Given the description of an element on the screen output the (x, y) to click on. 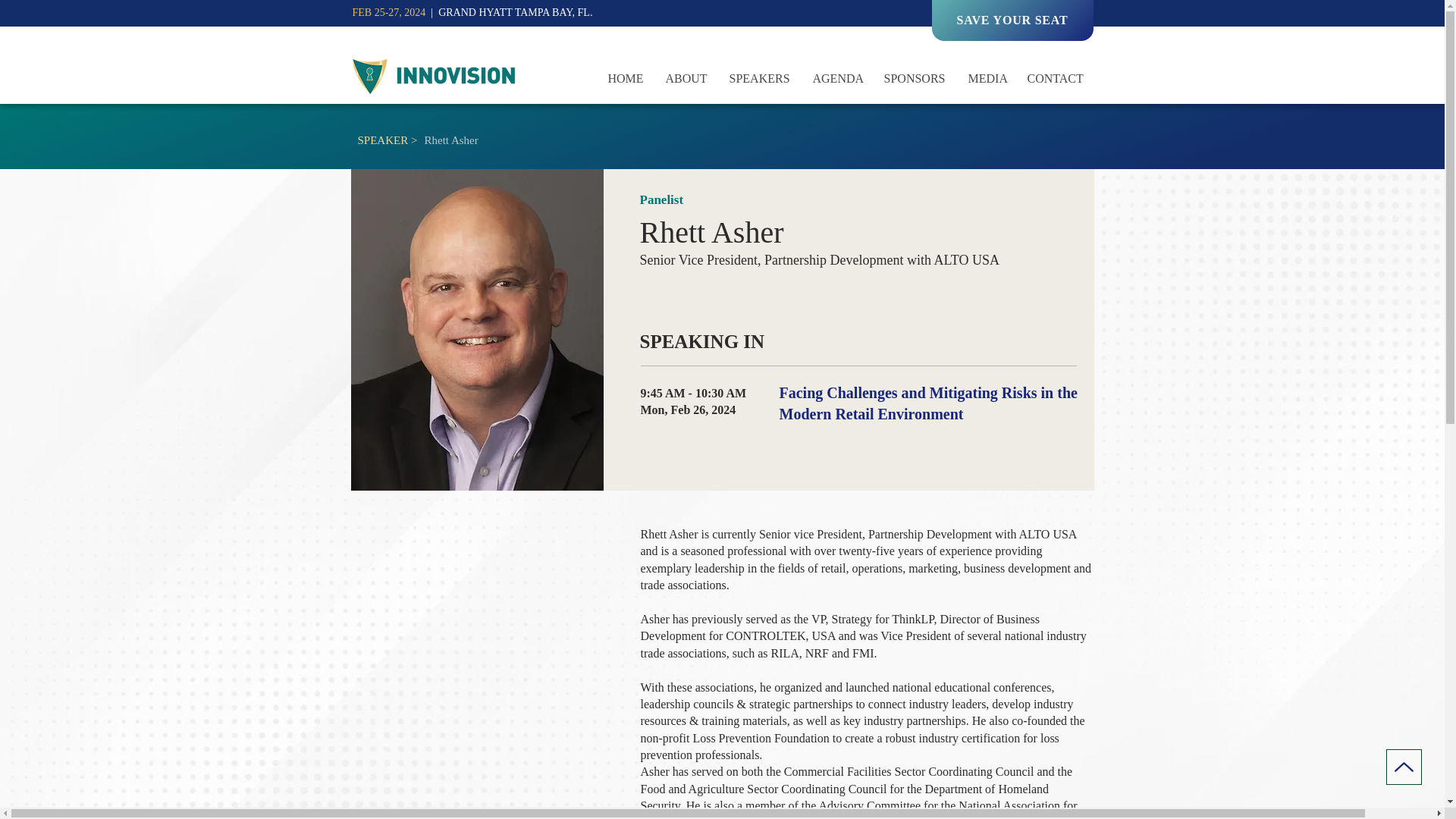
SAVE YOUR SEAT (1012, 20)
SPONSORS (914, 78)
SPEAKERS (758, 78)
HOME (624, 78)
ABOUT (685, 78)
AGENDA (836, 78)
CONTACT (1055, 78)
